Given the description of an element on the screen output the (x, y) to click on. 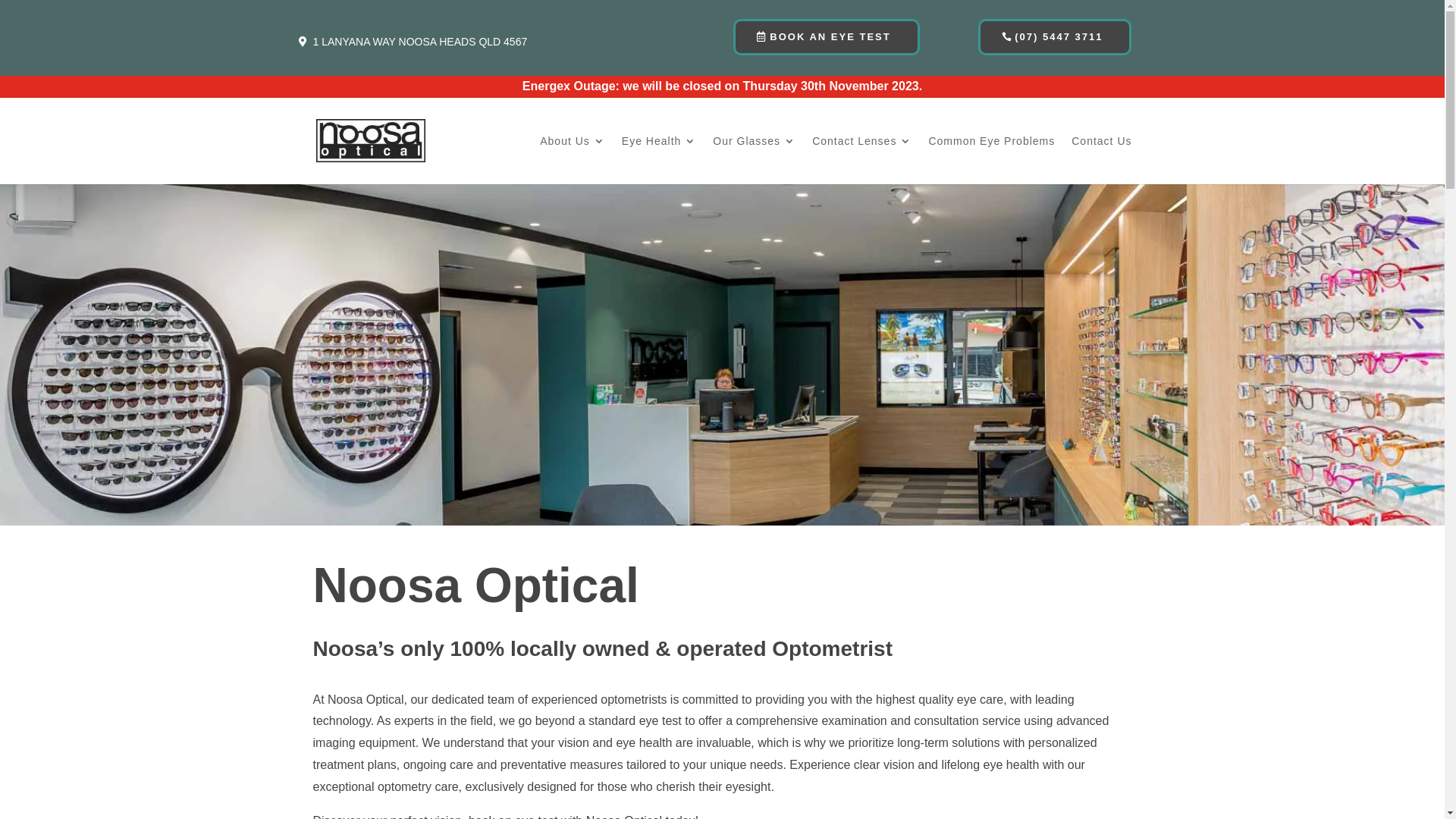
Eye Health Element type: text (658, 159)
BOOK AN EYE TEST Element type: text (826, 36)
Contact Lenses Element type: text (861, 159)
1 LANYANA WAY NOOSA HEADS QLD 4567 Element type: text (419, 42)
Common Eye Problems Element type: text (991, 159)
About Us Element type: text (572, 159)
Contact Us Element type: text (1101, 159)
(07) 5447 3711 Element type: text (1054, 36)
Our Glasses Element type: text (753, 159)
Noosa Optometrist Eye Test PC Element type: hover (722, 382)
